Given the description of an element on the screen output the (x, y) to click on. 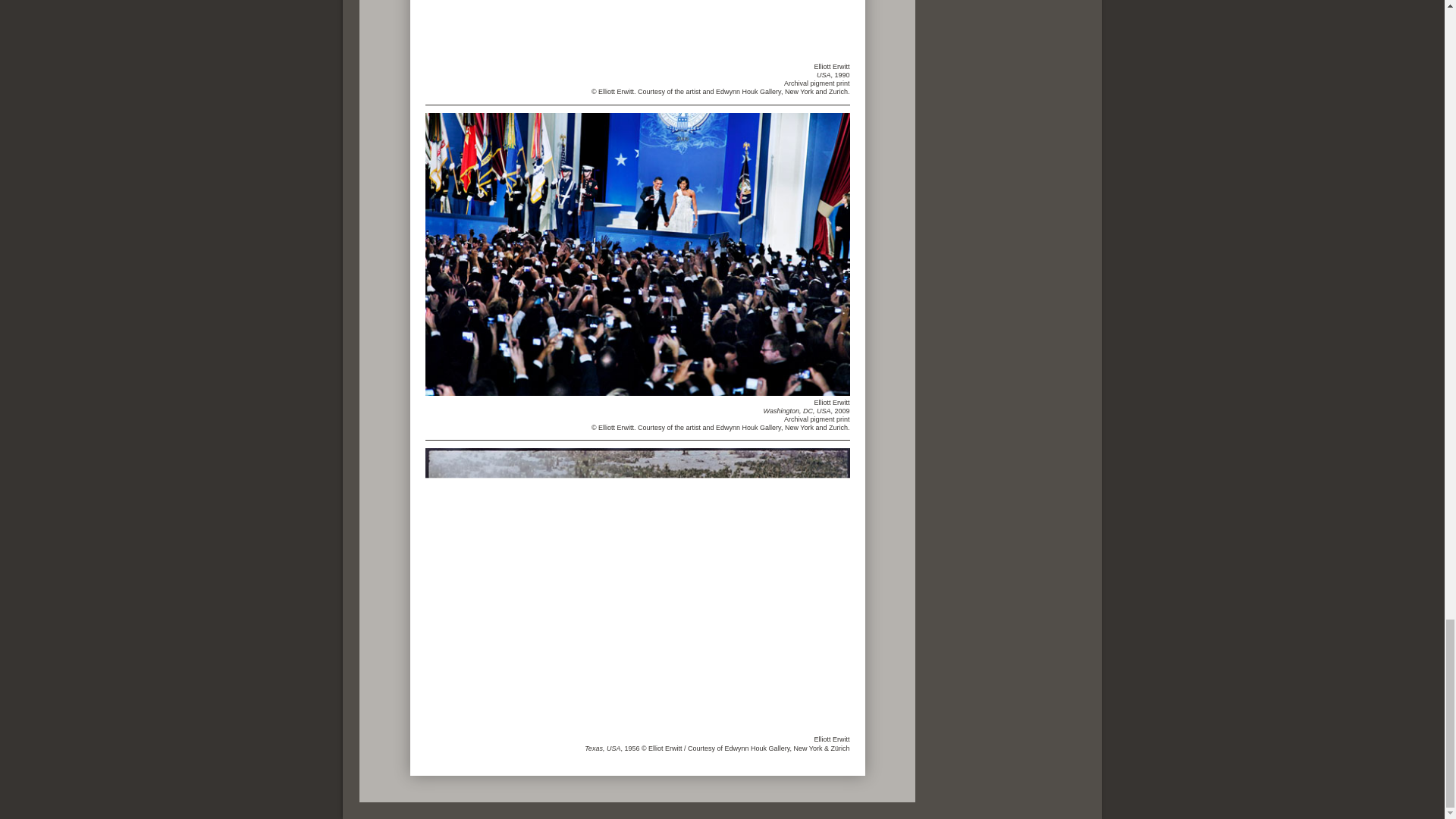
Kolor (636, 254)
Kolor (636, 589)
Kolor (705, 29)
